Given the description of an element on the screen output the (x, y) to click on. 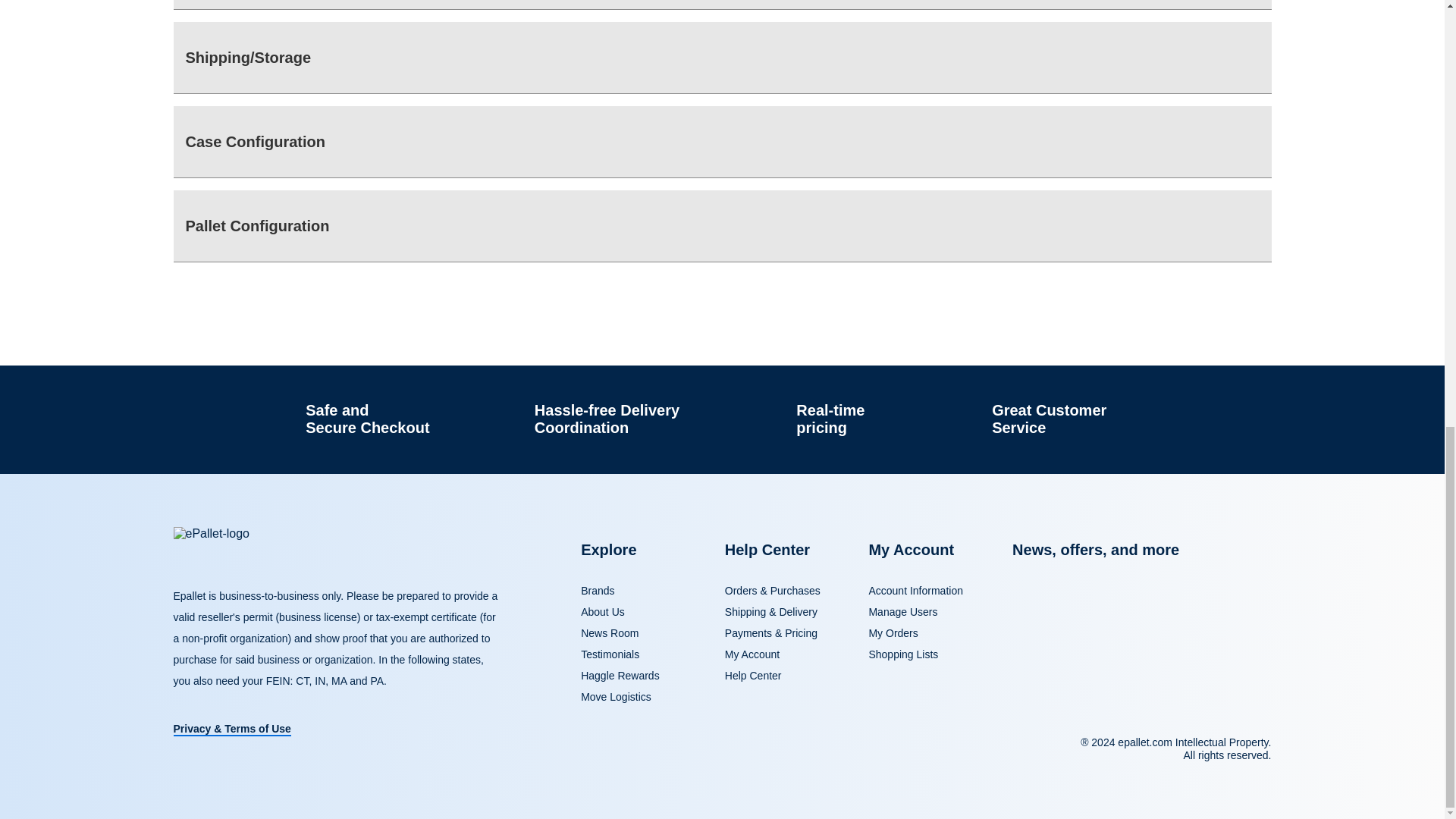
Testimonials (609, 654)
Brands (597, 590)
Haggle Rewards (619, 675)
News Room (609, 633)
My Account (751, 654)
Move Logistics (615, 696)
About Us (602, 612)
